Given the description of an element on the screen output the (x, y) to click on. 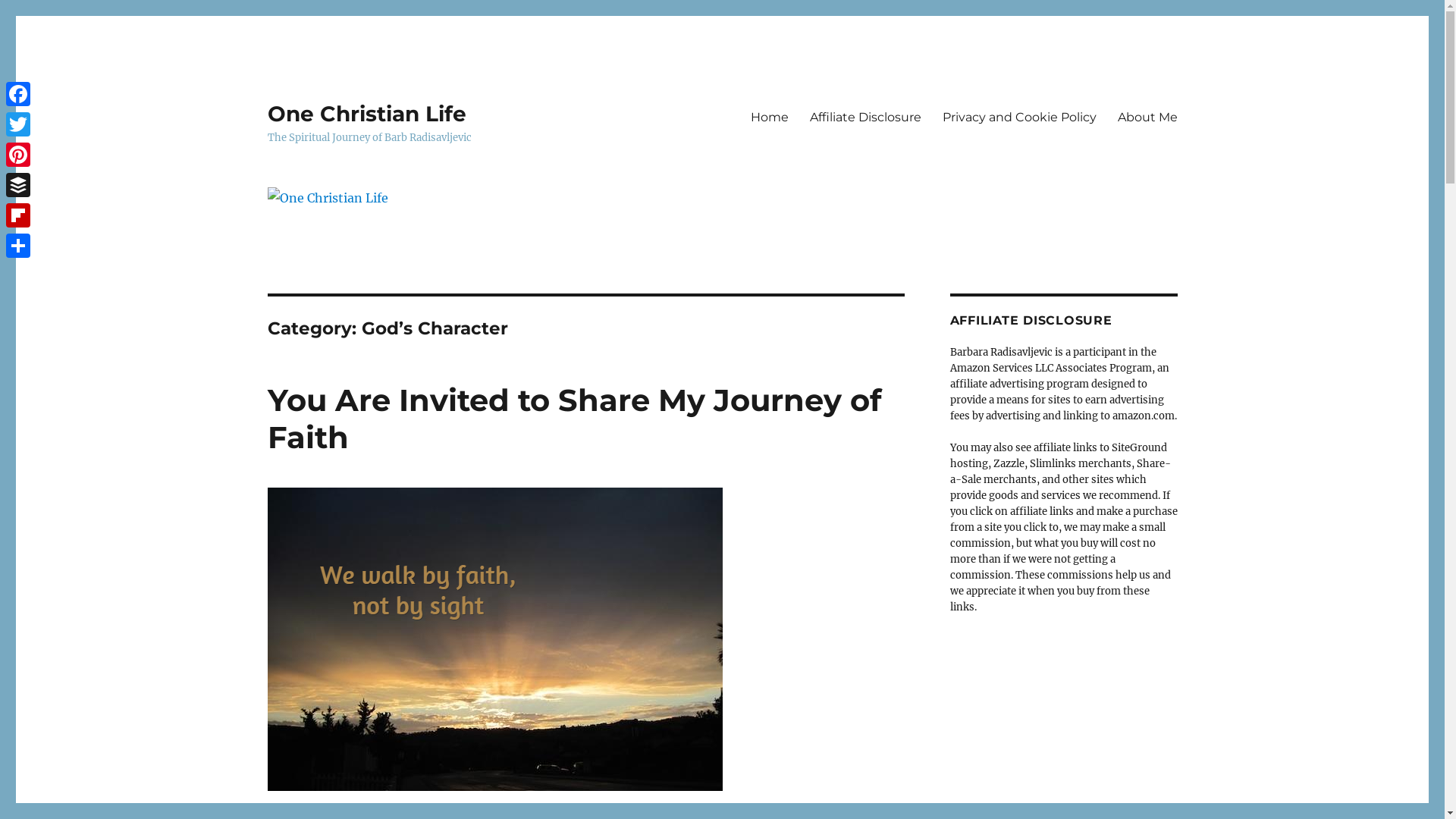
Twitter Element type: text (18, 124)
Facebook Element type: text (18, 93)
Home Element type: text (769, 116)
Flipboard Element type: text (18, 215)
Affiliate Disclosure Element type: text (865, 116)
About Me Element type: text (1147, 116)
Share Element type: text (18, 245)
Pinterest Element type: text (18, 154)
Privacy and Cookie Policy Element type: text (1018, 116)
Buffer Element type: text (18, 184)
You Are Invited to Share My Journey of Faith Element type: text (573, 418)
One Christian Life Element type: text (365, 113)
